Given the description of an element on the screen output the (x, y) to click on. 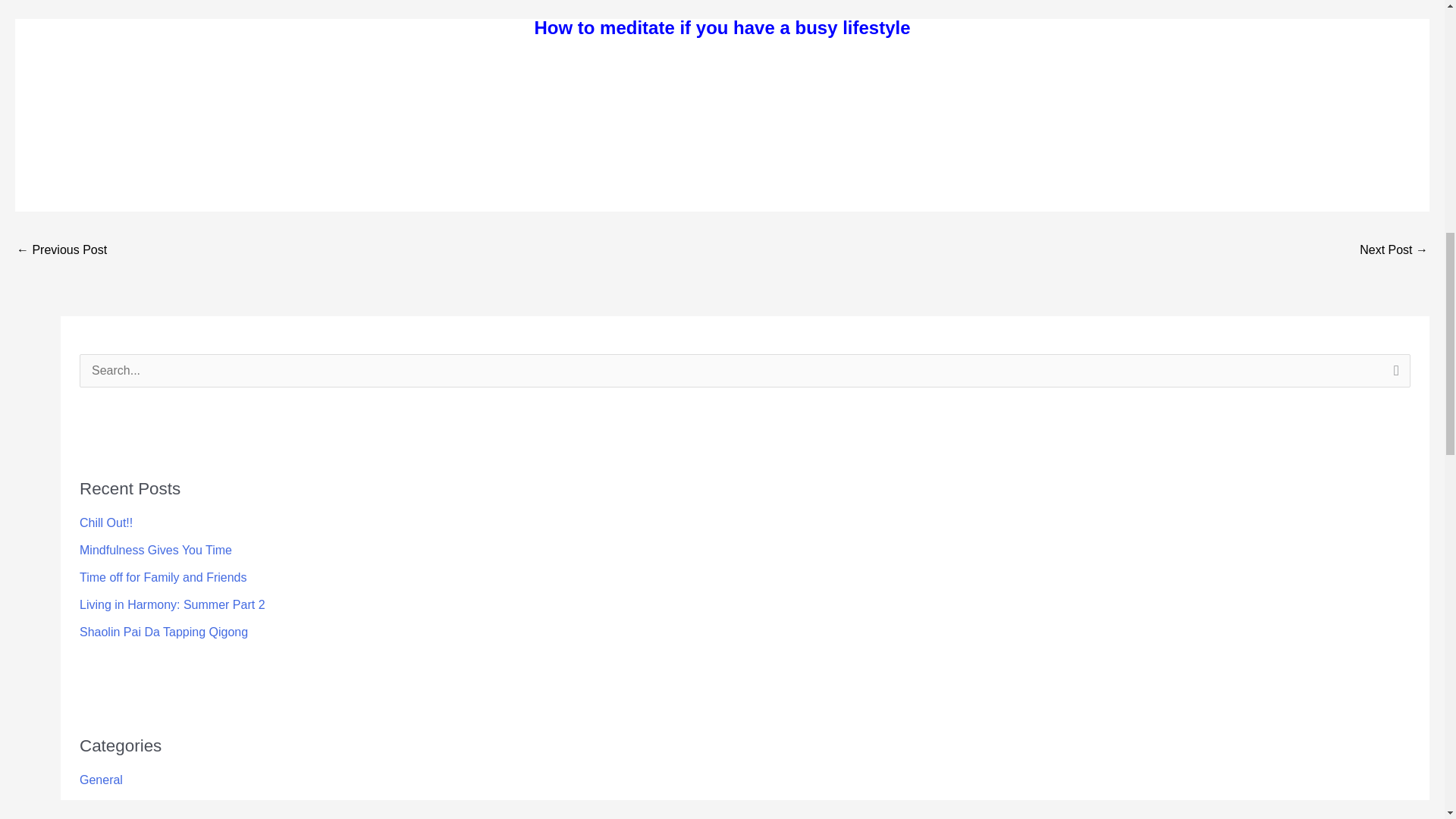
An Aid to help cope better and de-stress a bit... (1393, 251)
